Given the description of an element on the screen output the (x, y) to click on. 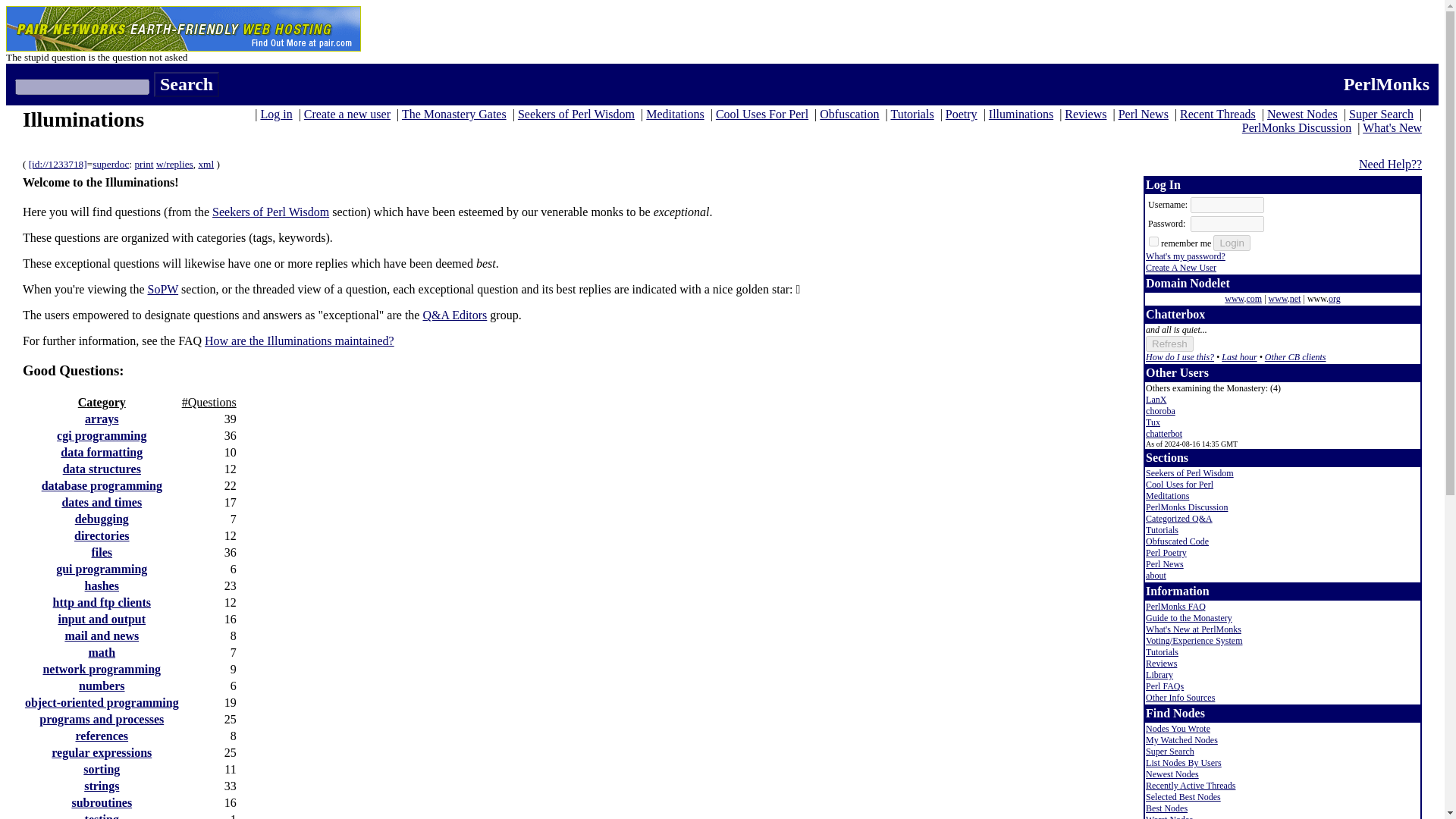
LanX's home node. Level 26. Member of: pmdev, SiteDocClan (1155, 398)
Refresh (1169, 343)
print (142, 163)
data formatting (101, 451)
dates and times (101, 502)
Meditations (674, 113)
debugging (102, 518)
files (101, 552)
PerlMonks (1386, 84)
Perl News (1143, 113)
